Given the description of an element on the screen output the (x, y) to click on. 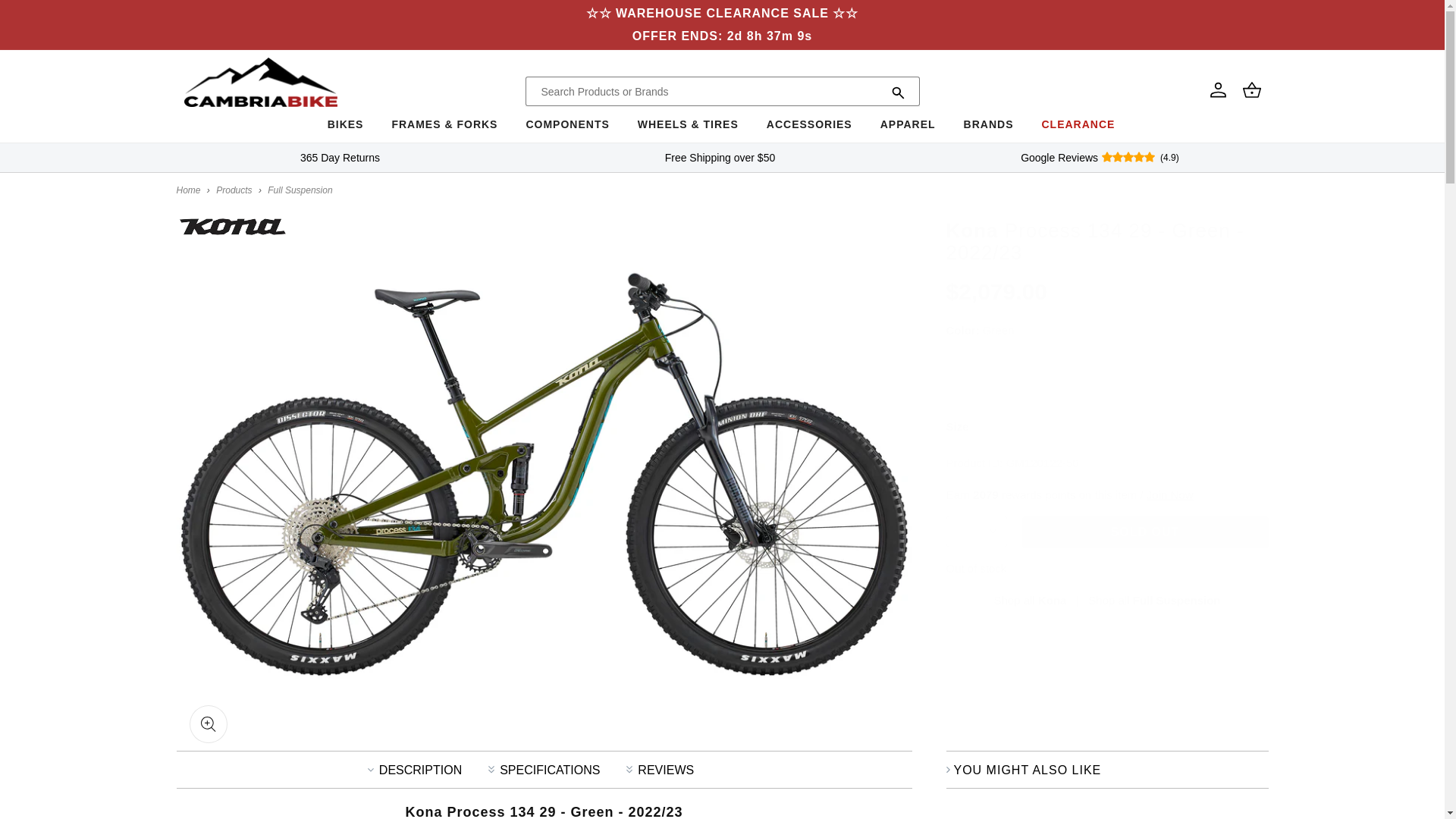
Cambria Bike (188, 190)
Products (233, 190)
Skip to content (45, 17)
Full Suspension (299, 190)
Full Suspension (1153, 599)
